Given the description of an element on the screen output the (x, y) to click on. 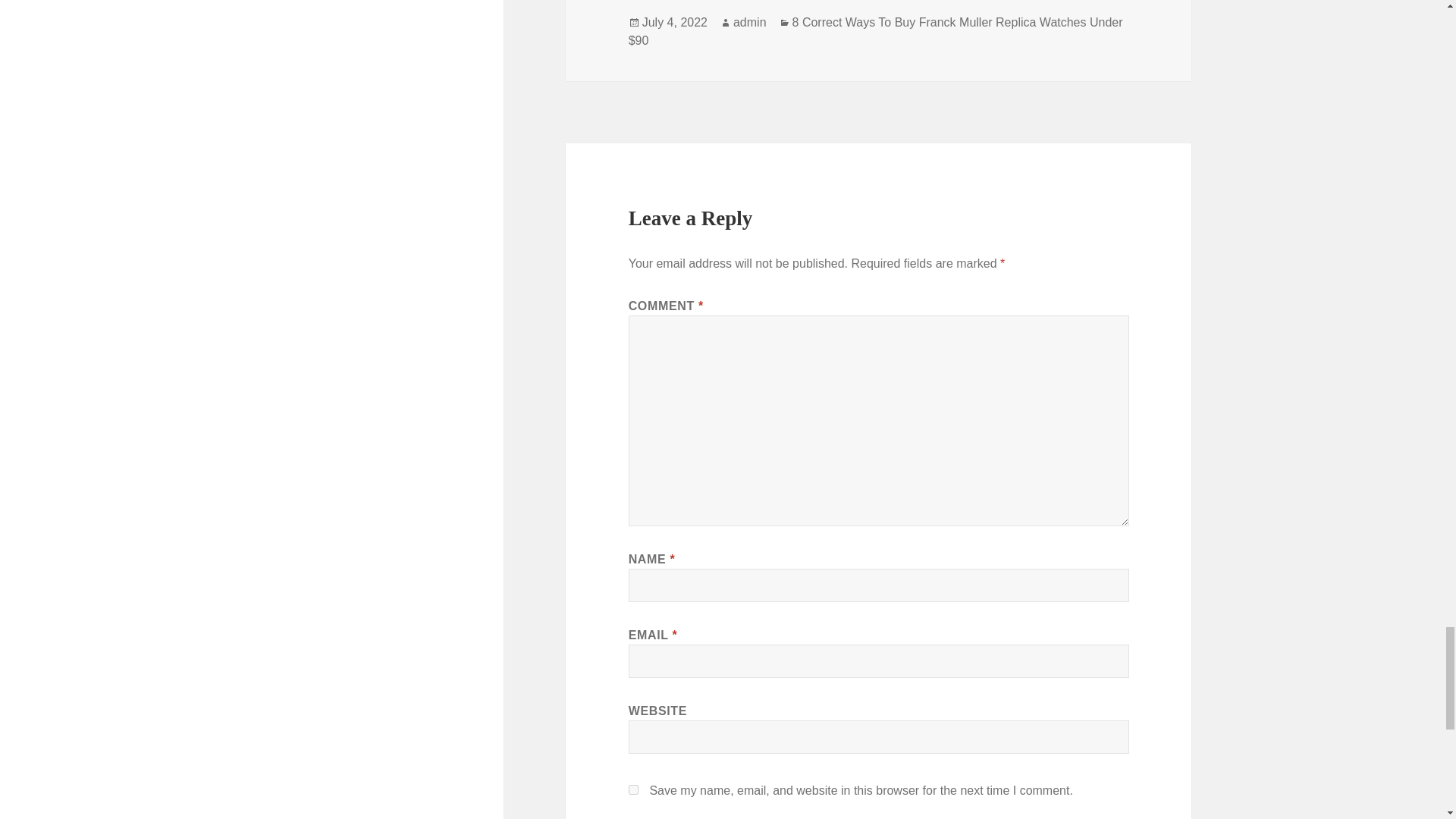
admin (750, 22)
yes (633, 789)
July 4, 2022 (674, 22)
